Given the description of an element on the screen output the (x, y) to click on. 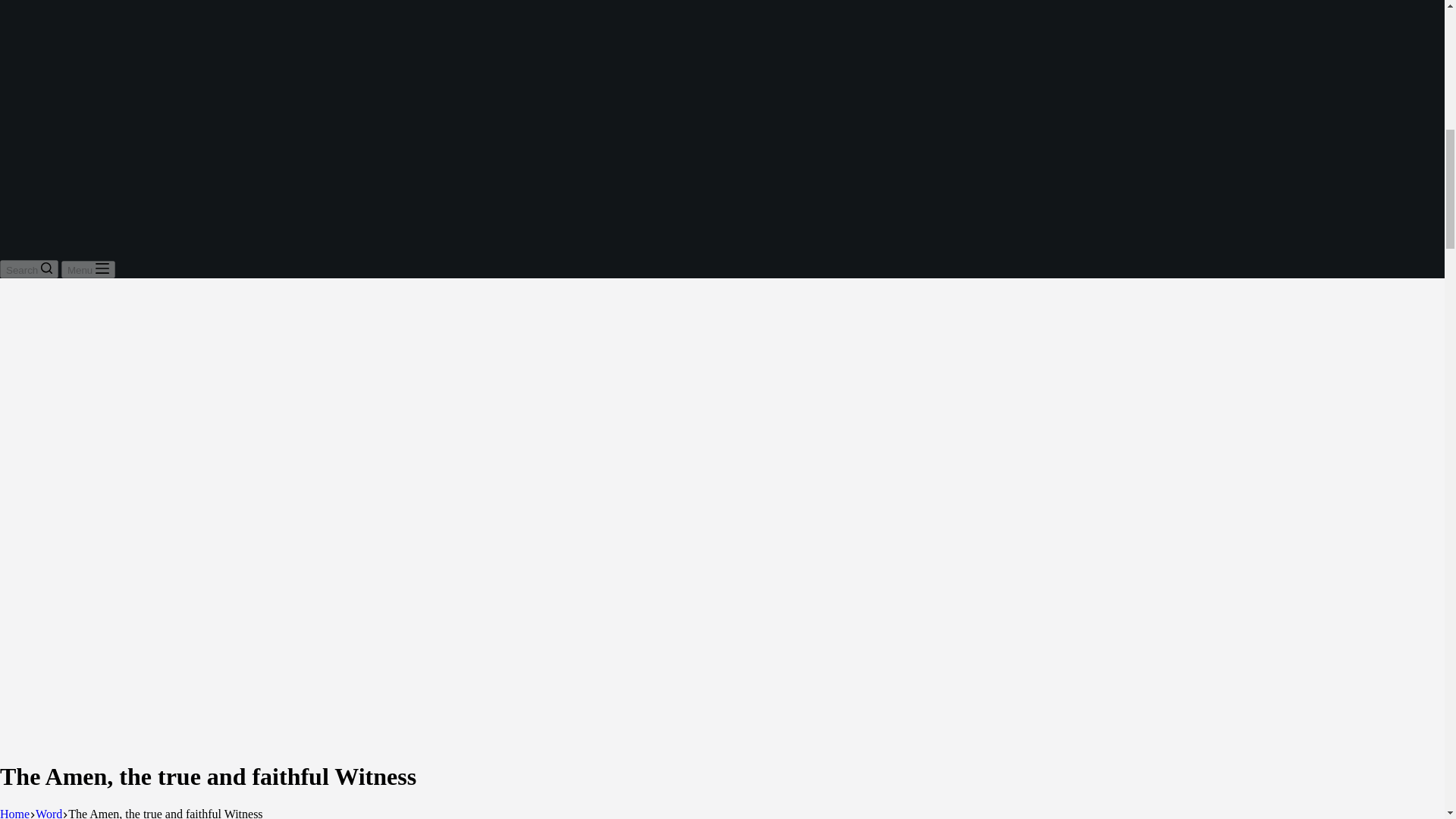
Word (48, 813)
Home (14, 813)
Menu (88, 269)
Search (29, 269)
